Given the description of an element on the screen output the (x, y) to click on. 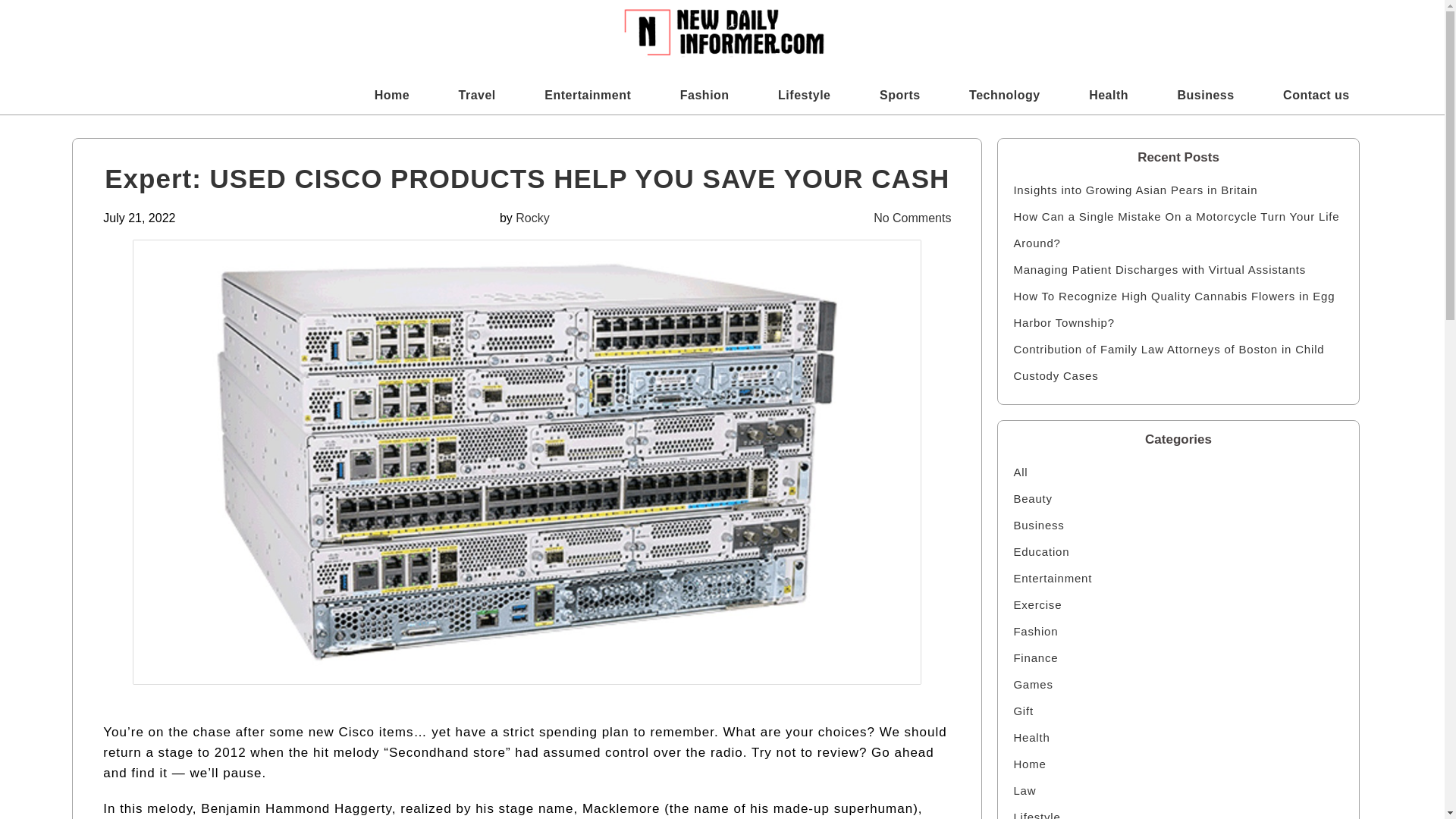
Home (1177, 764)
Posts by Rocky (531, 217)
Fashion (1177, 631)
Home (391, 94)
Lifestyle (803, 94)
Health (1177, 737)
Insights into Growing Asian Pears in Britain (1177, 189)
Exercise (1177, 604)
Health (1108, 94)
